Given the description of an element on the screen output the (x, y) to click on. 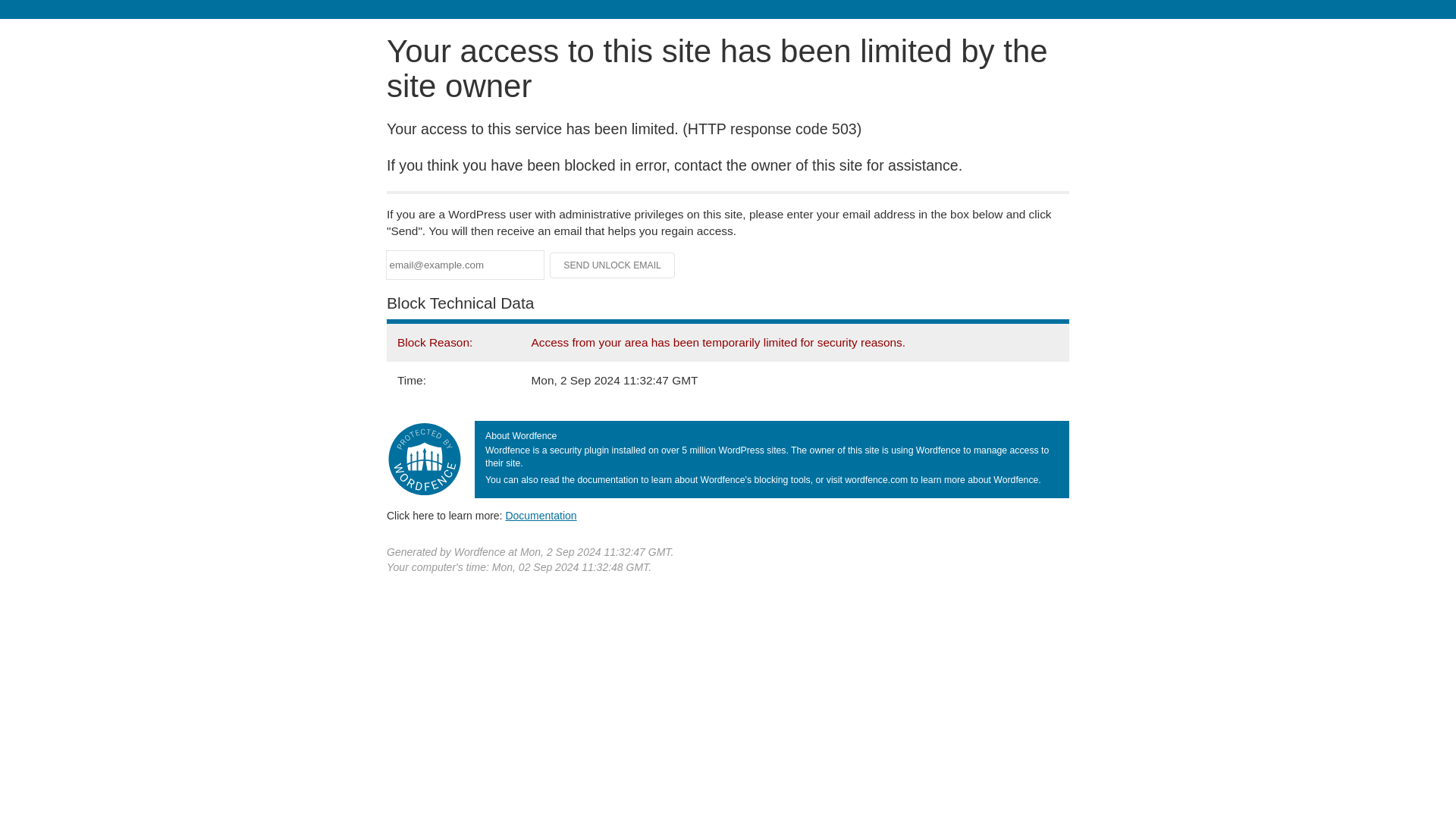
Send Unlock Email (612, 265)
Documentation (540, 515)
Send Unlock Email (612, 265)
